Given the description of an element on the screen output the (x, y) to click on. 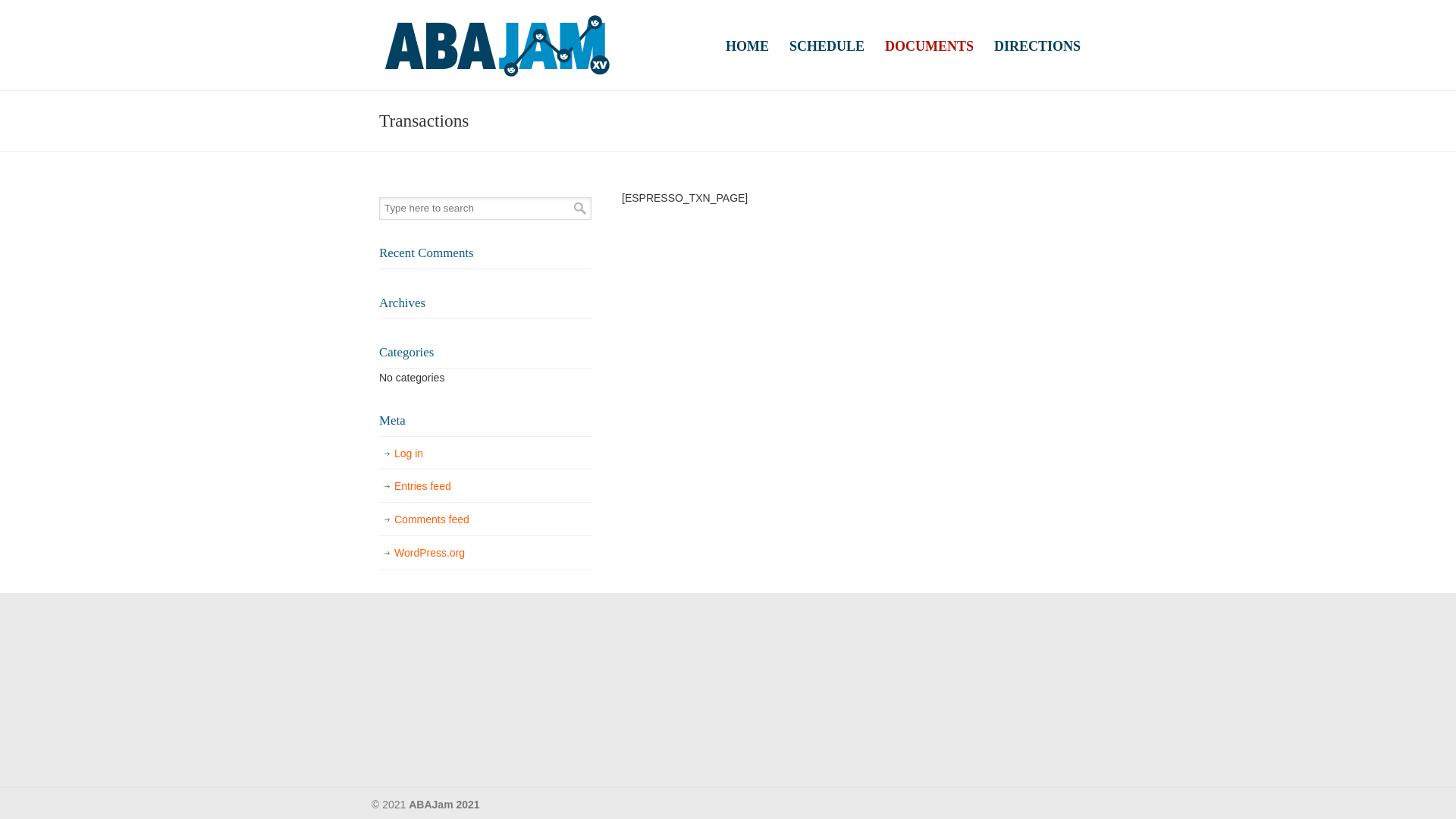
HOME Element type: text (747, 46)
SCHEDULE Element type: text (826, 46)
Comments feed Element type: text (485, 519)
Log in Element type: text (485, 453)
Entries feed Element type: text (485, 486)
WordPress.org Element type: text (485, 553)
DIRECTIONS Element type: text (1037, 46)
DOCUMENTS Element type: text (929, 46)
